Given the description of an element on the screen output the (x, y) to click on. 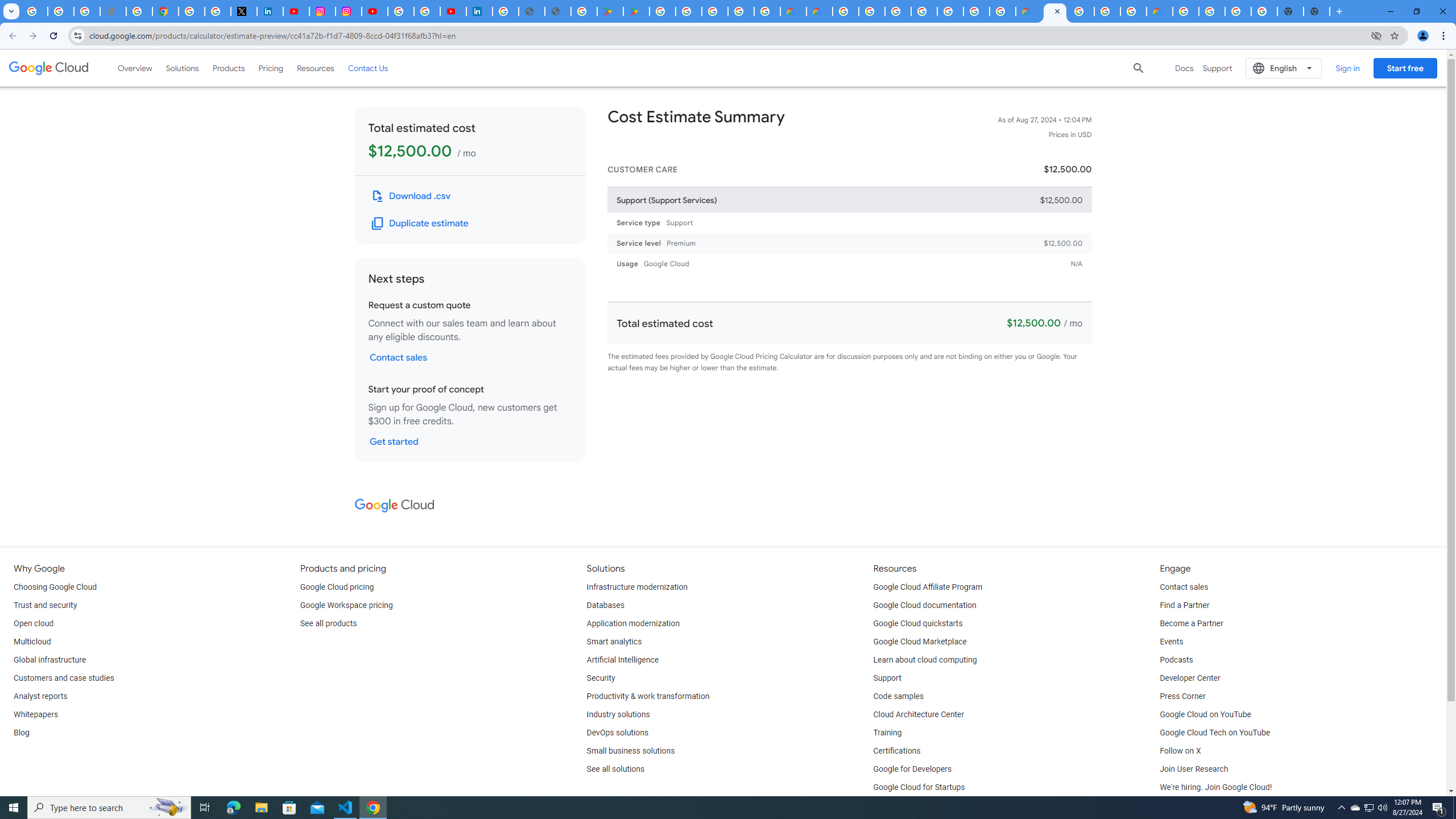
Smart analytics (614, 642)
Customer Care | Google Cloud (1028, 11)
YouTube Content Monetization Policies - How YouTube Works (296, 11)
Code samples (898, 696)
Google Cloud Marketplace (919, 642)
Resources (314, 67)
Sign in - Google Accounts (191, 11)
Pricing (270, 67)
Google Cloud (48, 67)
Trust and security (45, 605)
Google Cloud Tech on YouTube (1214, 732)
